Given the description of an element on the screen output the (x, y) to click on. 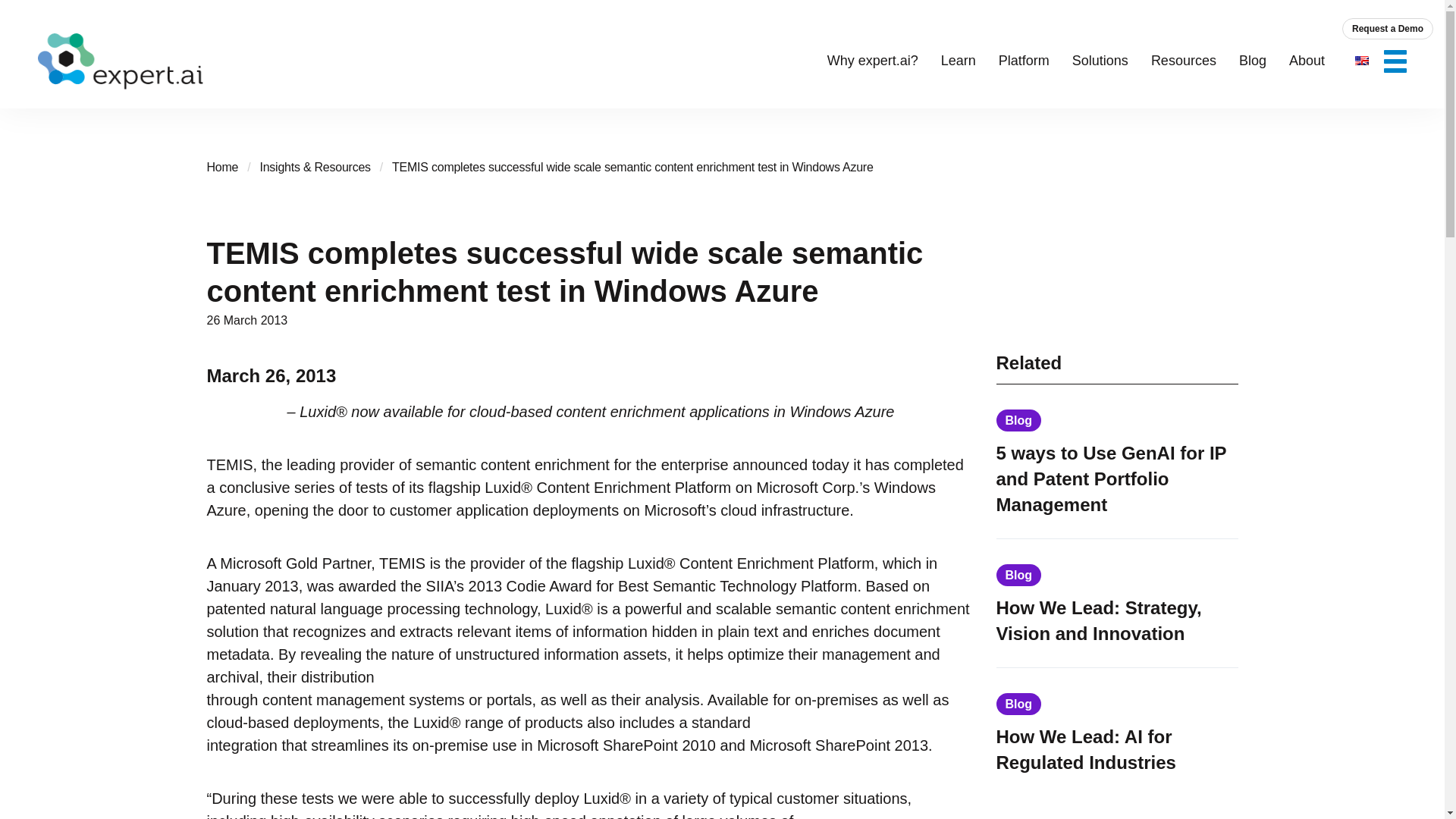
Learn (957, 60)
Why expert.ai? (872, 60)
Platform (1023, 60)
Solutions (1099, 60)
